Given the description of an element on the screen output the (x, y) to click on. 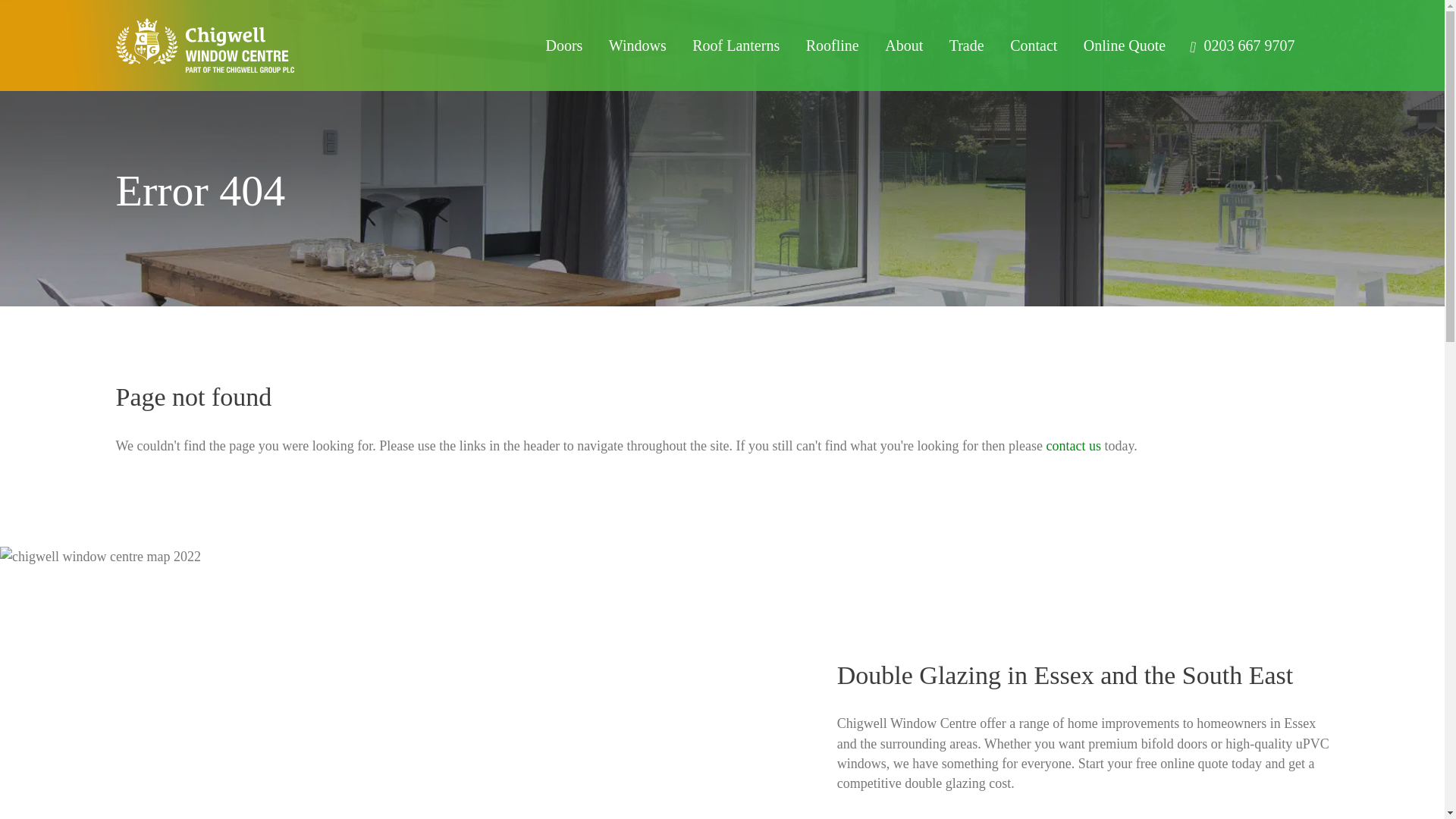
Return to the homepage (230, 45)
